Given the description of an element on the screen output the (x, y) to click on. 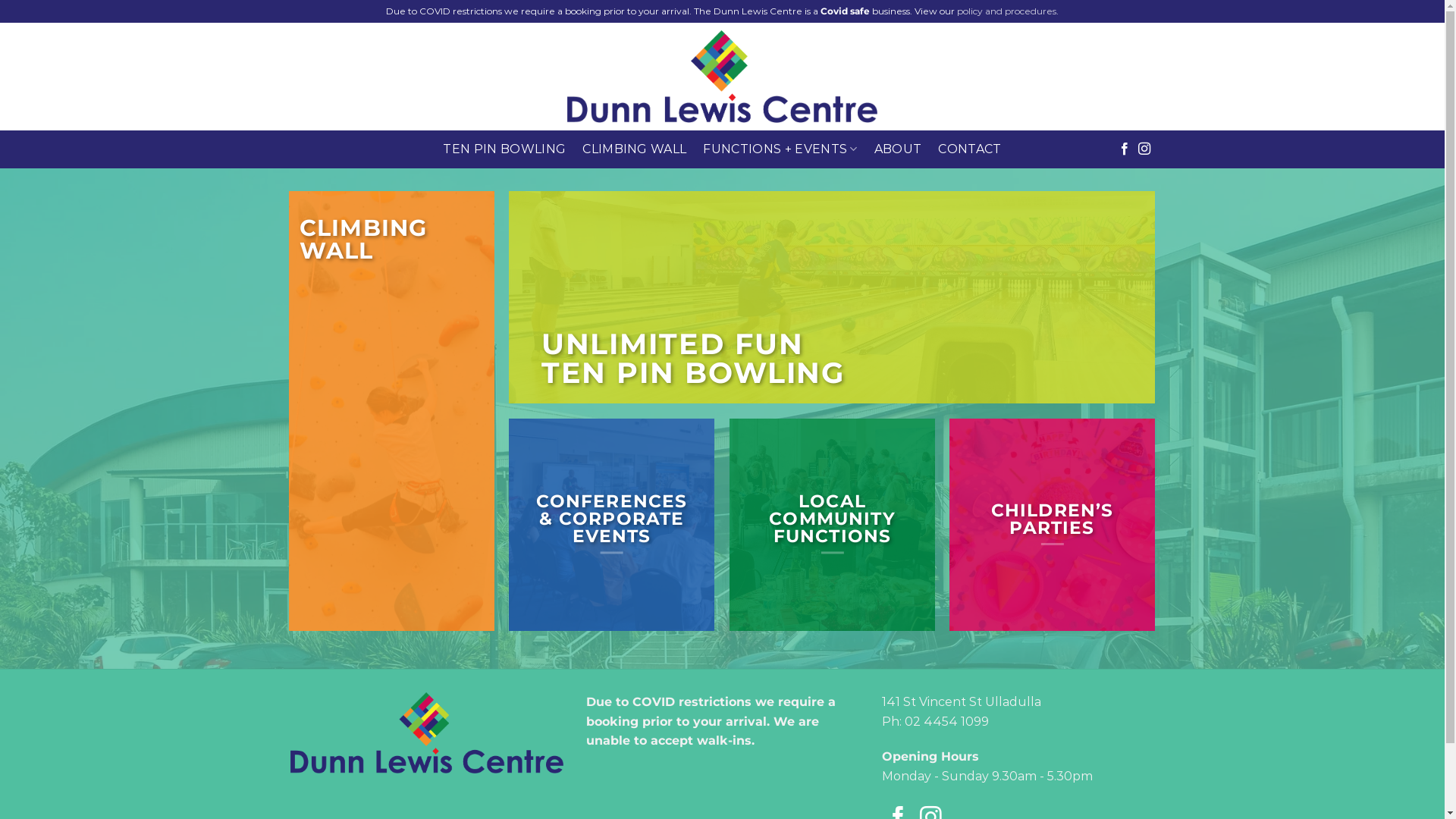
CONTACT Element type: text (969, 149)
CONFERENCES & CORPORATE EVENTS Element type: text (611, 518)
UNLIMITED FUN
TEN PIN BOWLING Element type: text (693, 358)
LOCAL COMMUNITY FUNCTIONS Element type: text (831, 518)
TEN PIN BOWLING Element type: text (503, 149)
Dunn Lewis Centre Element type: hover (721, 76)
FUNCTIONS + EVENTS Element type: text (779, 149)
ABOUT Element type: text (898, 149)
Follow on Facebook Element type: hover (1124, 149)
CLIMBING WALL Element type: text (634, 149)
CLIMBING WALL Element type: text (362, 241)
Follow on Instagram Element type: hover (1144, 149)
policy and procedures Element type: text (1006, 10)
